Given the description of an element on the screen output the (x, y) to click on. 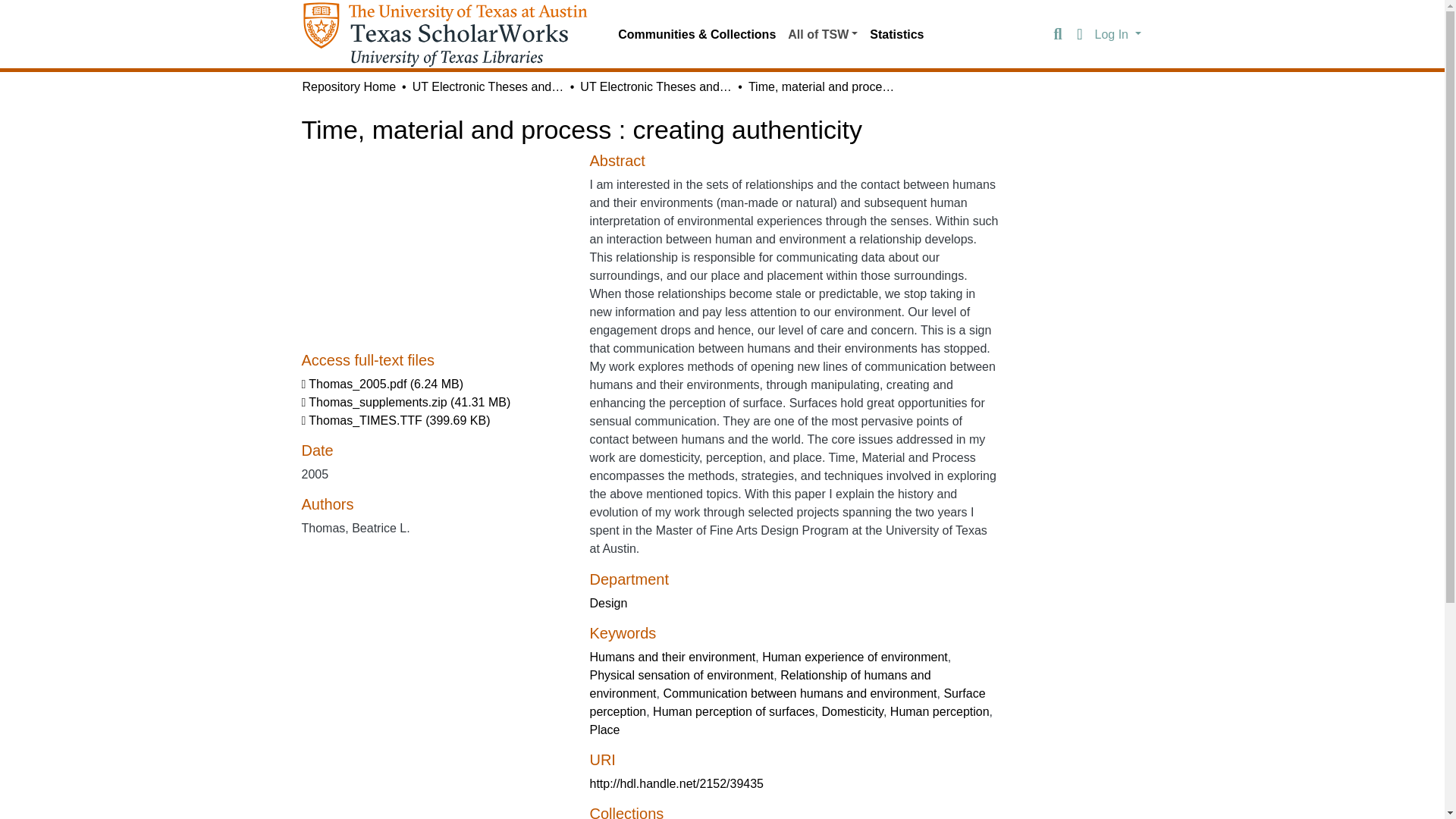
Human perception of surfaces (732, 711)
Relationship of humans and environment (759, 684)
Place (604, 729)
Human perception (939, 711)
UT Electronic Theses and Dissertations (655, 86)
Language switch (1079, 34)
Physical sensation of environment (681, 675)
Statistics (896, 34)
Repository Home (348, 86)
All of TSW (822, 34)
